Given the description of an element on the screen output the (x, y) to click on. 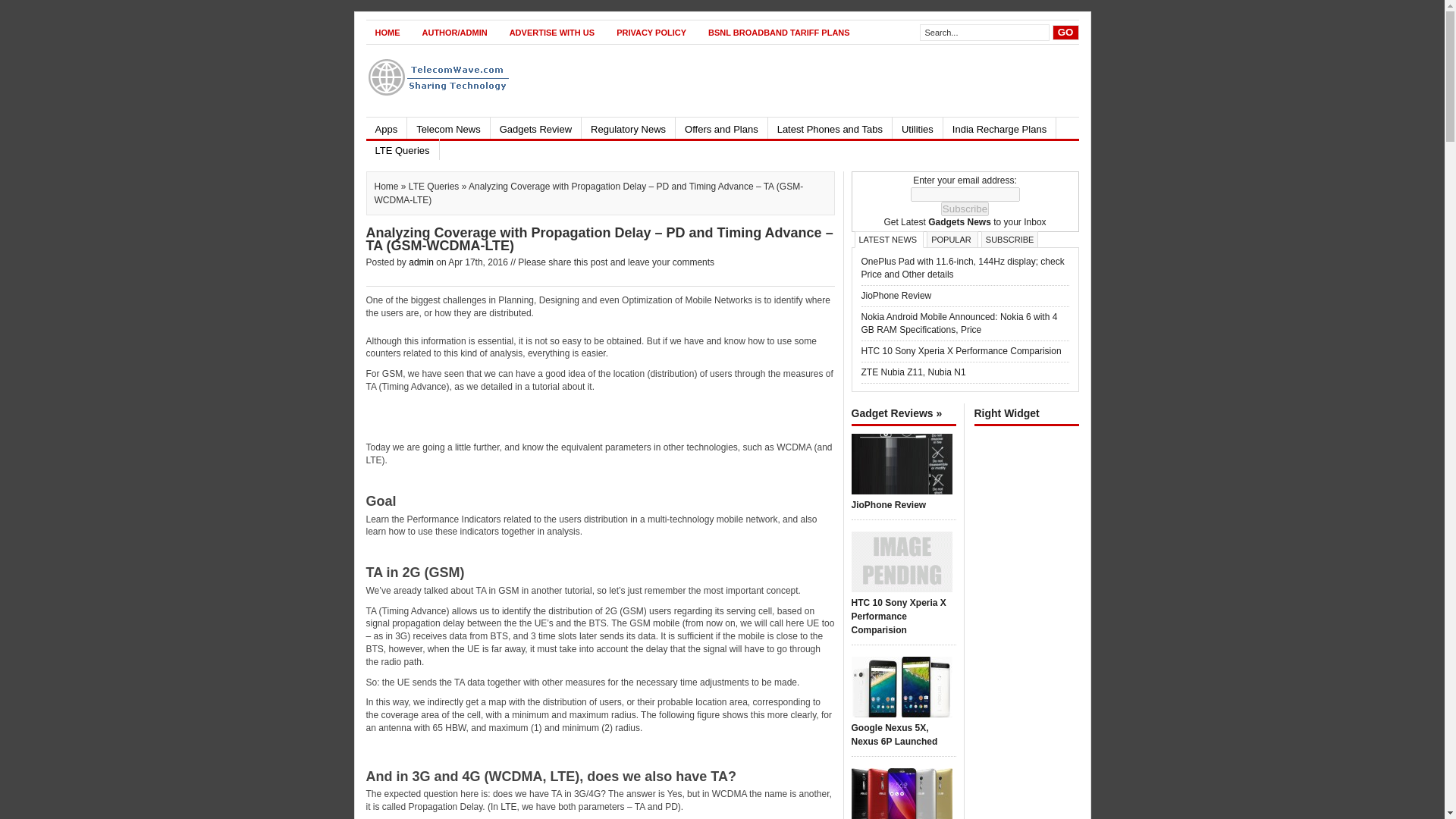
Offers and Plans (721, 127)
Telecom News (448, 127)
Search... (984, 32)
GO (1065, 32)
Advertisement (801, 79)
PRIVACY POLICY (651, 31)
GO (1065, 32)
Search... (984, 32)
India Recharge Plans (999, 127)
Utilities (917, 127)
Posts by admin (952, 238)
ADVERTISE WITH US (421, 262)
Latest Phones and Tabs (552, 31)
Regulatory News (829, 127)
